Given the description of an element on the screen output the (x, y) to click on. 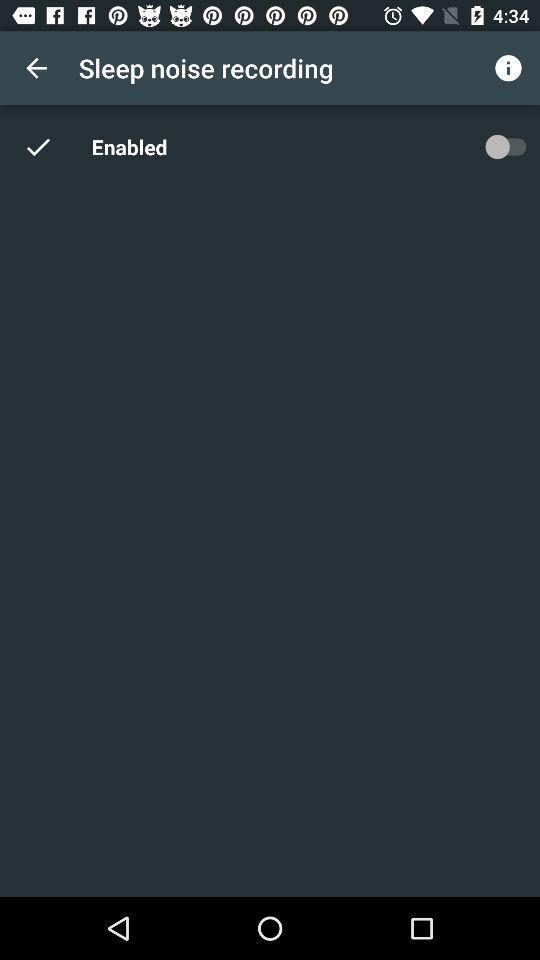
choose the app next to the sleep noise recording (36, 68)
